Given the description of an element on the screen output the (x, y) to click on. 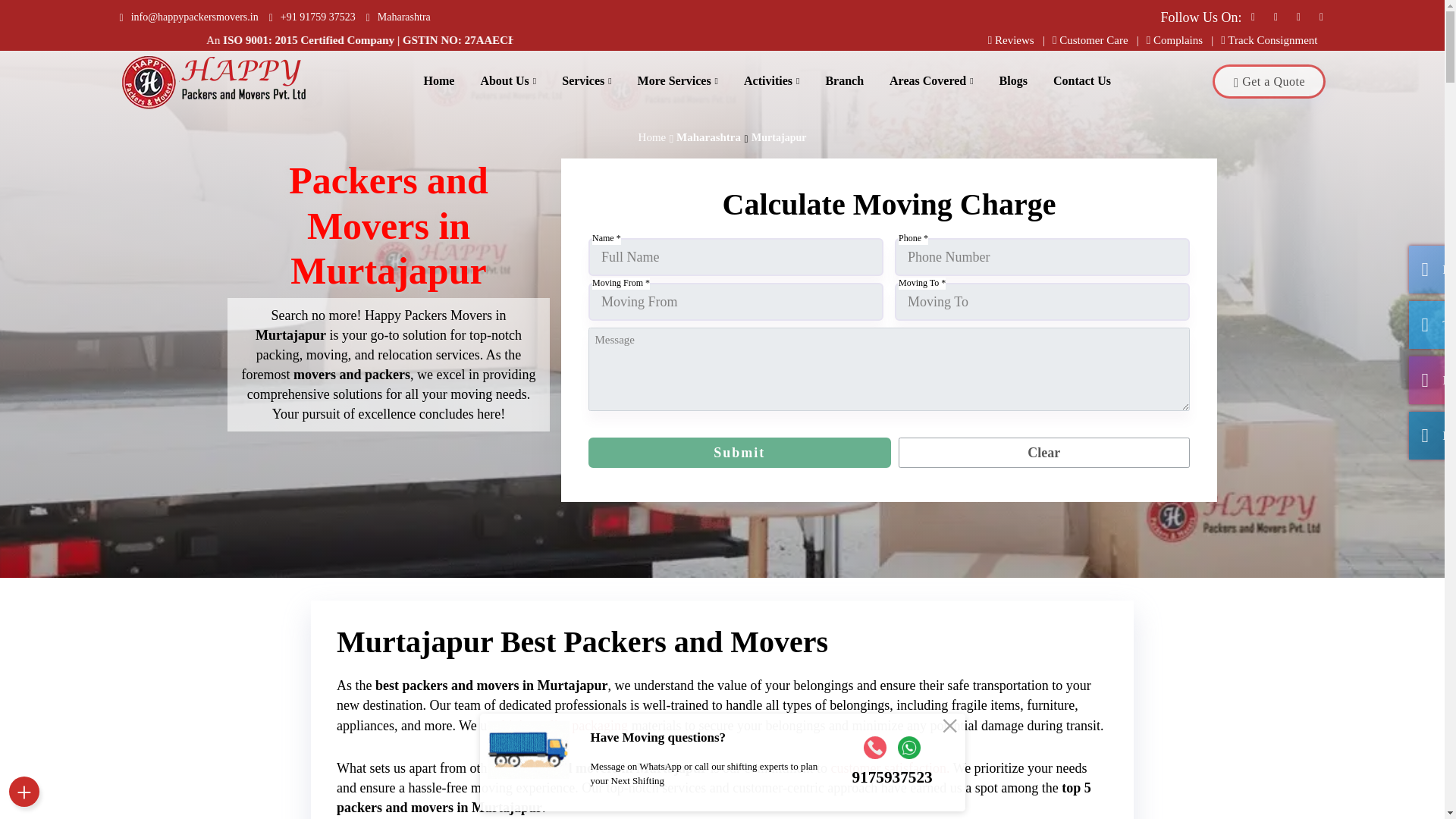
Home (438, 80)
Track Consignment (1269, 38)
Submit (739, 452)
About Us (507, 80)
Services (586, 80)
Clear (1043, 452)
Maharashtra (398, 17)
